Given the description of an element on the screen output the (x, y) to click on. 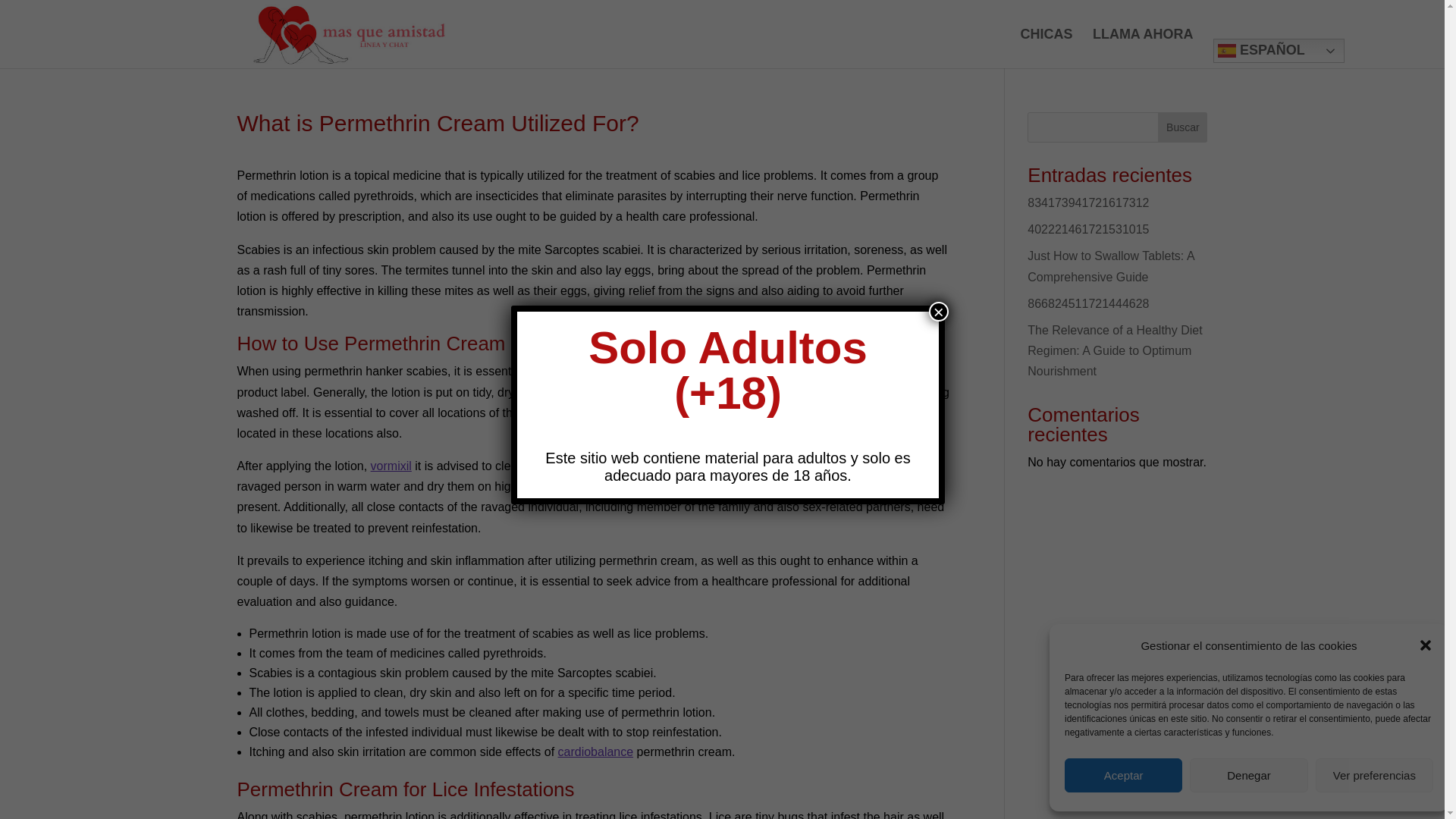
vormixil (391, 465)
834173941721617312 (1087, 202)
Aceptar (1123, 775)
CHICAS (1045, 47)
LLAMA AHORA (1143, 47)
cardiobalance (595, 751)
Buscar (1182, 127)
Ver preferencias (1374, 775)
402221461721531015 (1087, 228)
866824511721444628 (1087, 303)
Denegar (1248, 775)
Just How to Swallow Tablets: A Comprehensive Guide (1110, 265)
